Given the description of an element on the screen output the (x, y) to click on. 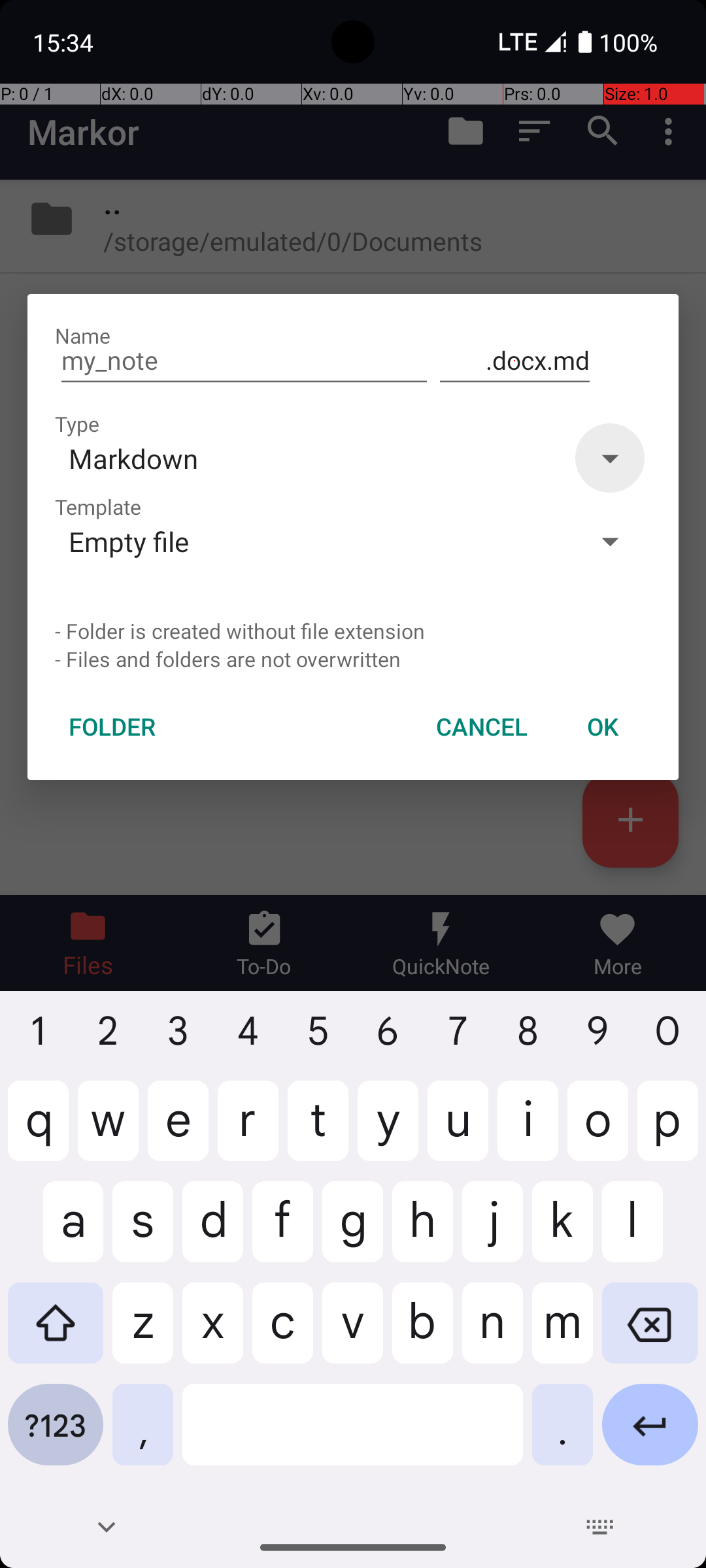
.docx.md Element type: android.widget.EditText (514, 360)
